Given the description of an element on the screen output the (x, y) to click on. 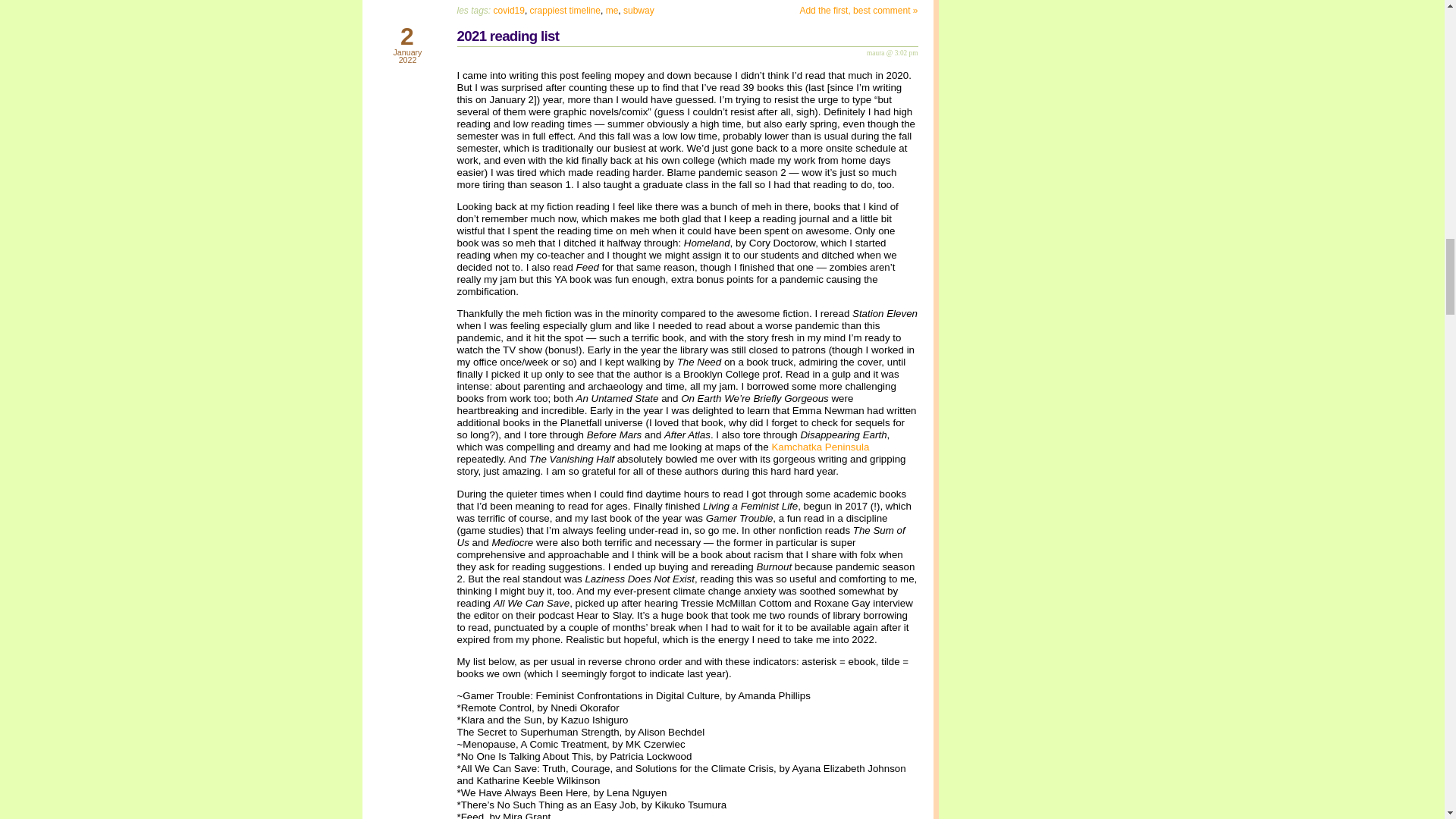
Kamchatka Peninsula (820, 446)
subway (638, 9)
2021 reading list (508, 35)
me (611, 9)
covid19 (508, 9)
crappiest timeline (564, 9)
